Given the description of an element on the screen output the (x, y) to click on. 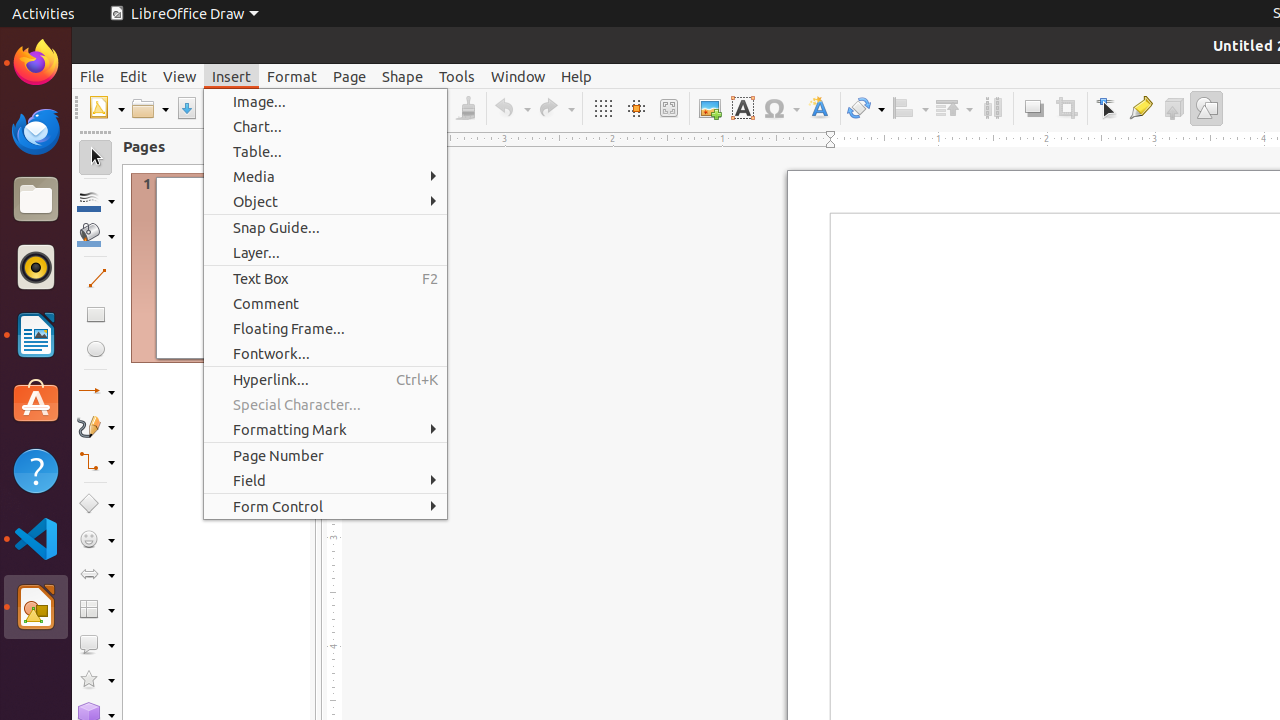
Format Element type: menu (292, 76)
Insert Element type: menu (231, 76)
Draw Functions Element type: toggle-button (1206, 108)
Line Color Element type: push-button (96, 200)
LibreOffice Draw Element type: push-button (36, 607)
